Given the description of an element on the screen output the (x, y) to click on. 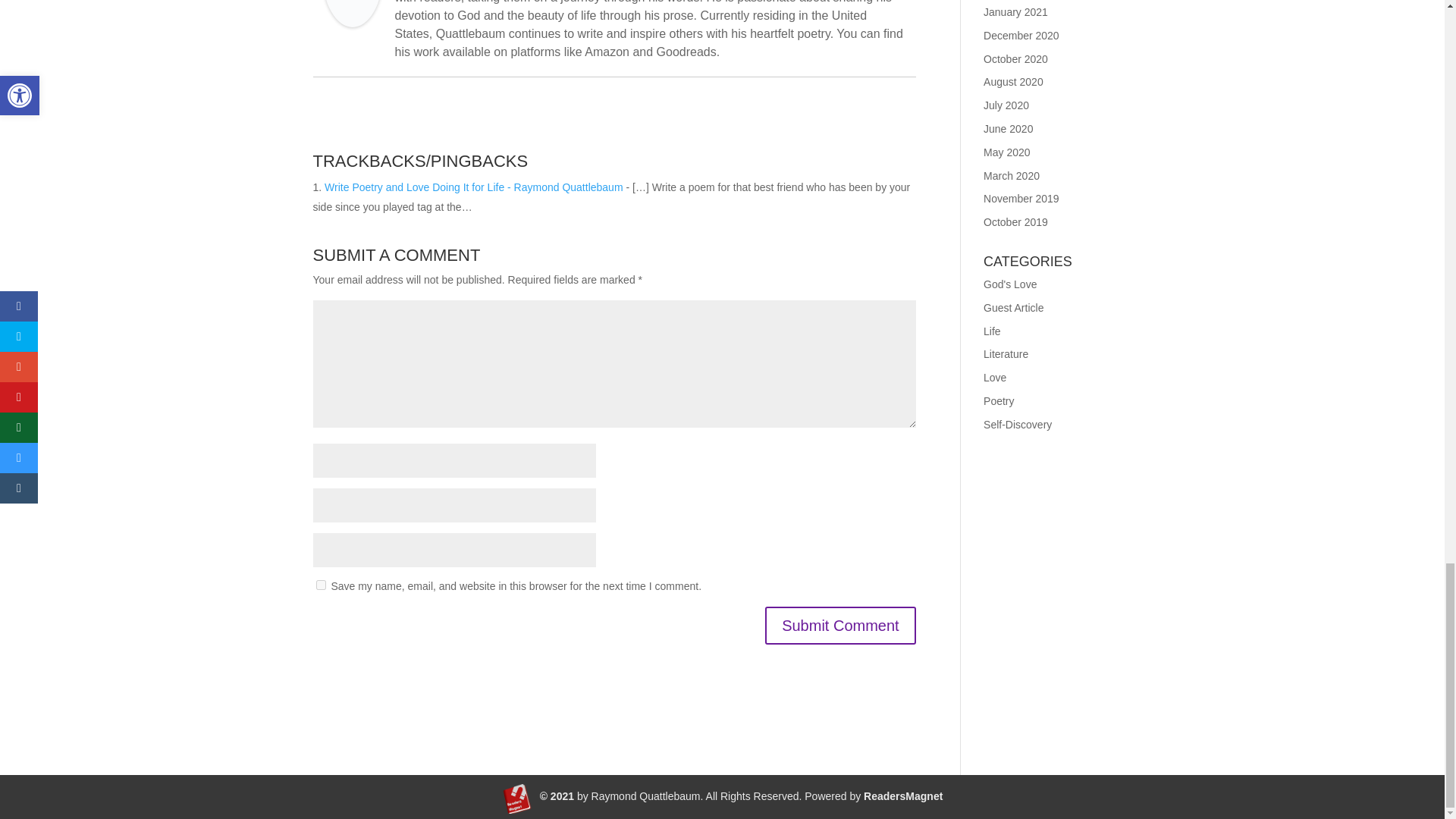
Raymond Quattlebaum (351, 17)
Submit Comment (840, 625)
yes (319, 584)
